Given the description of an element on the screen output the (x, y) to click on. 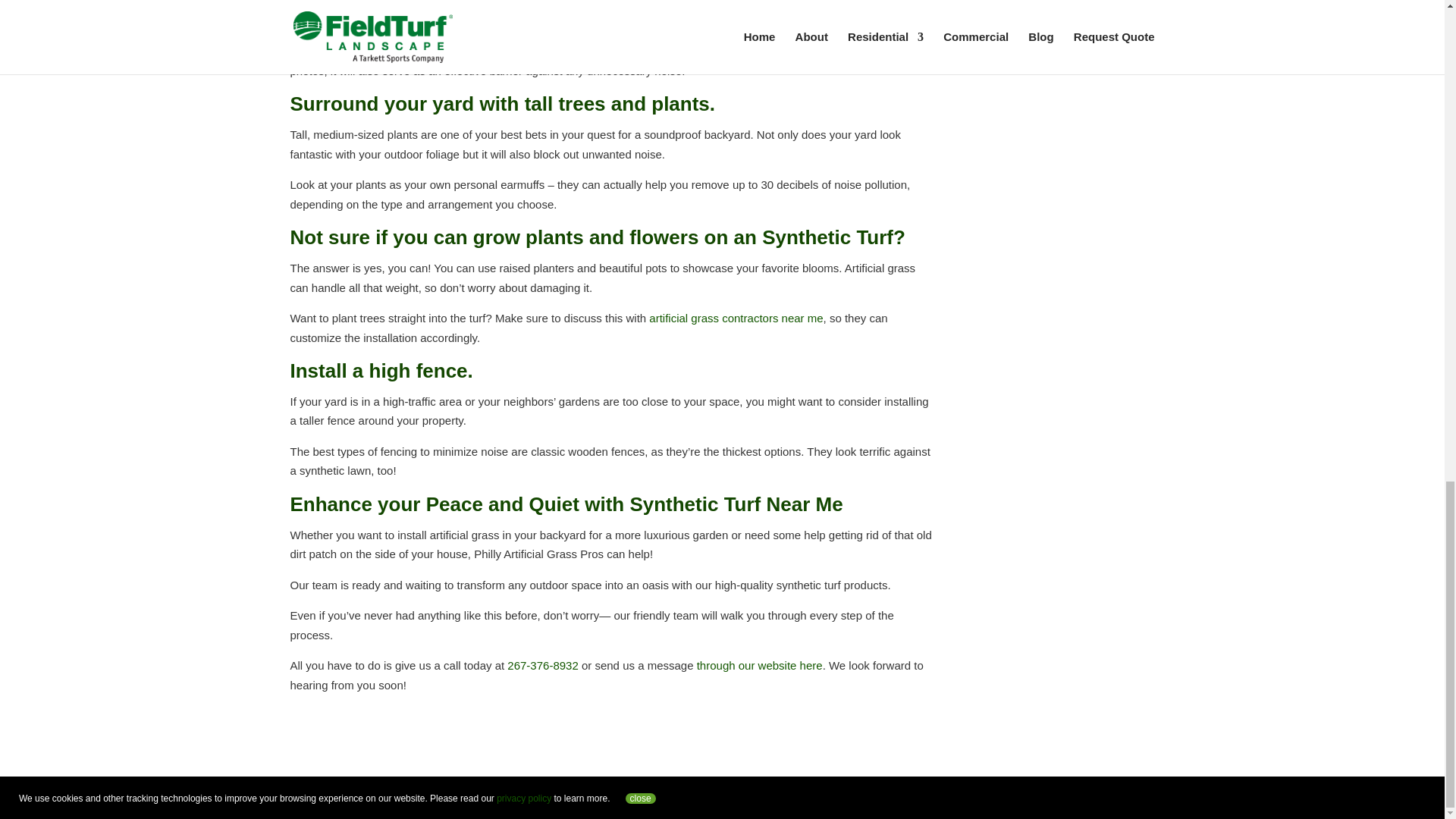
artificial grass contractors near me (735, 318)
267-376-8932 (542, 665)
through our website here (759, 665)
Privacy Policy (682, 797)
Terms Of Use (600, 797)
Cookie Policy (759, 797)
